Given the description of an element on the screen output the (x, y) to click on. 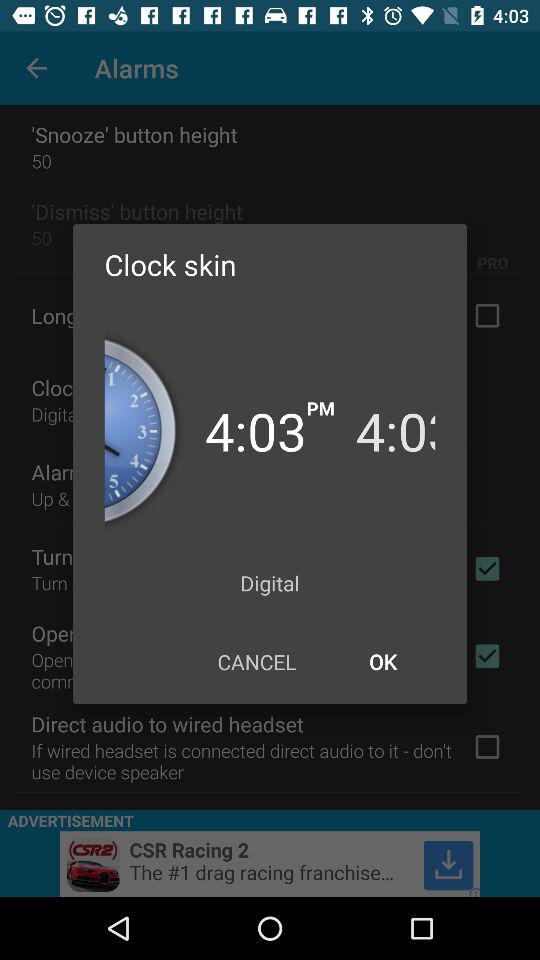
choose icon to the right of cancel icon (382, 661)
